Given the description of an element on the screen output the (x, y) to click on. 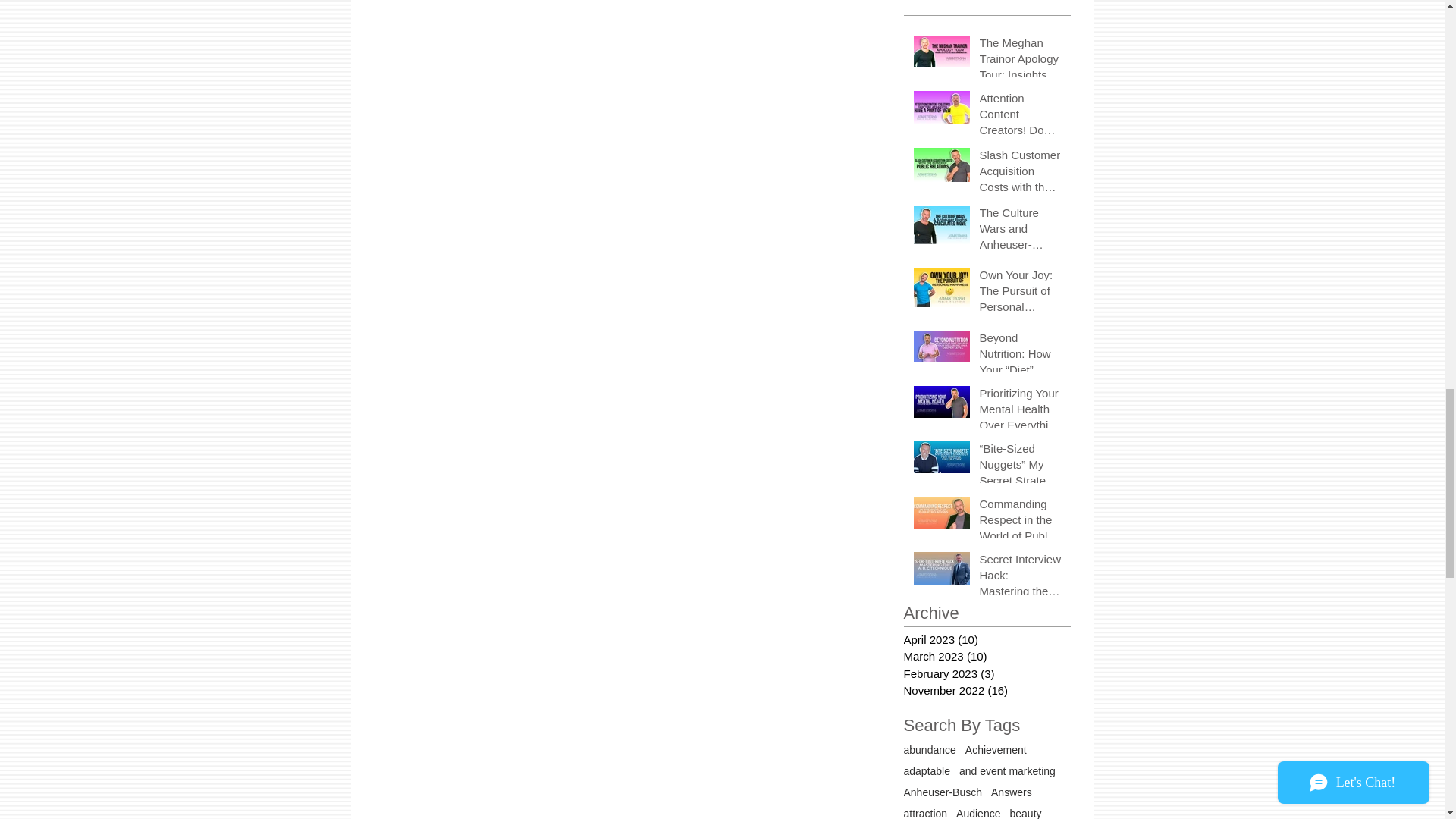
Secret Interview Hack: Mastering the A, B, C Technique (1020, 578)
Commanding Respect in the World of Public Relations (1020, 522)
The Culture Wars and Anheuser-Busch's Calculated Move (1020, 231)
Prioritizing Your Mental Health Over Everything Else (1020, 411)
Own Your Joy: The Pursuit of Personal Happiness (1020, 293)
